Given the description of an element on the screen output the (x, y) to click on. 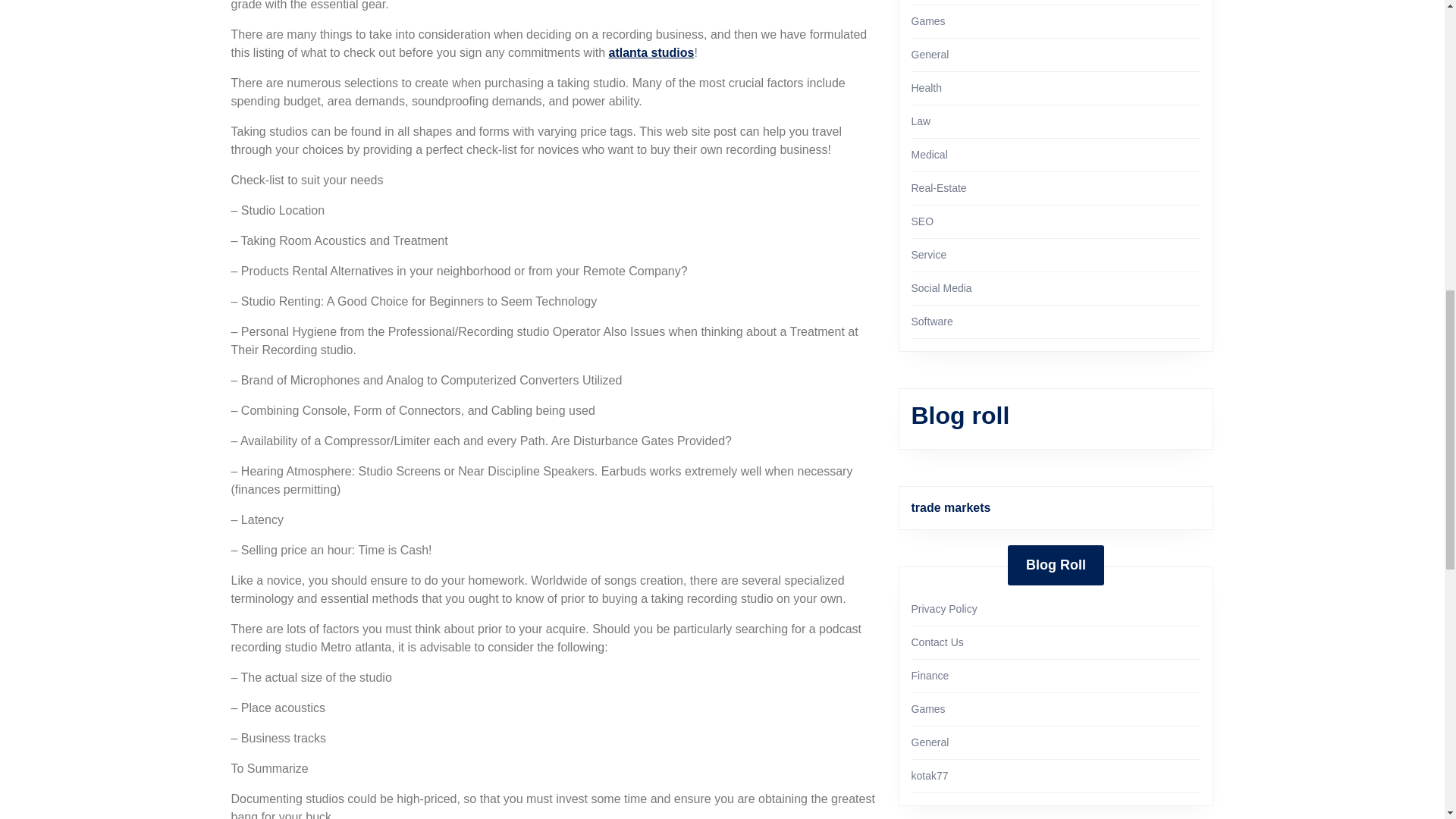
General (930, 54)
Health (926, 87)
Medical (929, 154)
Law (921, 121)
atlanta studios (651, 51)
Games (927, 21)
